Given the description of an element on the screen output the (x, y) to click on. 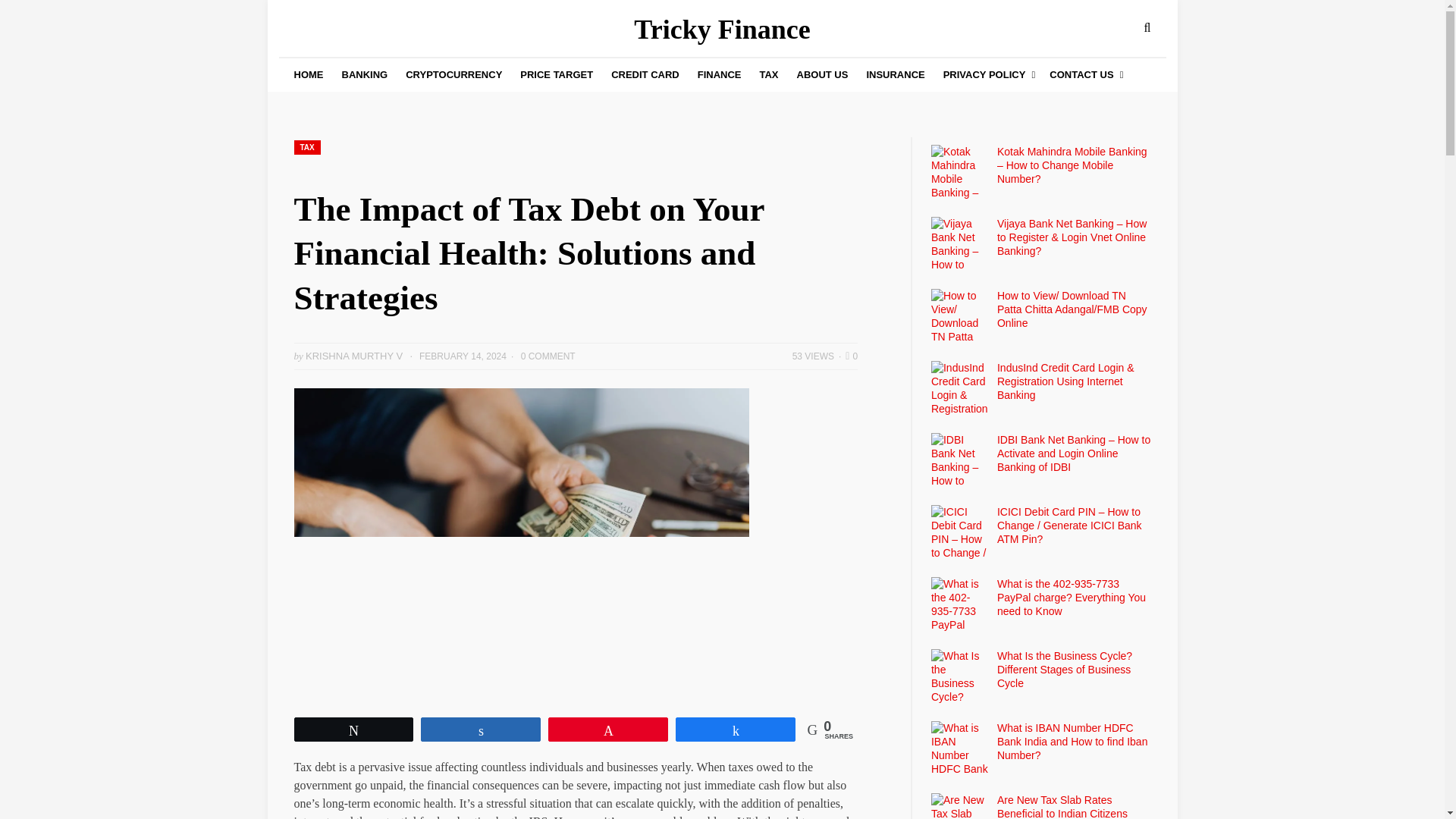
0 (851, 356)
ABOUT US (822, 74)
CRYPTOCURRENCY (454, 74)
KRISHNA MURTHY V (354, 355)
Like this (851, 356)
BANKING (363, 74)
TAX (307, 147)
INSURANCE (895, 74)
PRICE TARGET (555, 74)
PRIVACY POLICY (987, 74)
CONTACT US (1084, 74)
CREDIT CARD (645, 74)
Tricky Finance (721, 29)
0 COMMENT (548, 356)
FINANCE (719, 74)
